Given the description of an element on the screen output the (x, y) to click on. 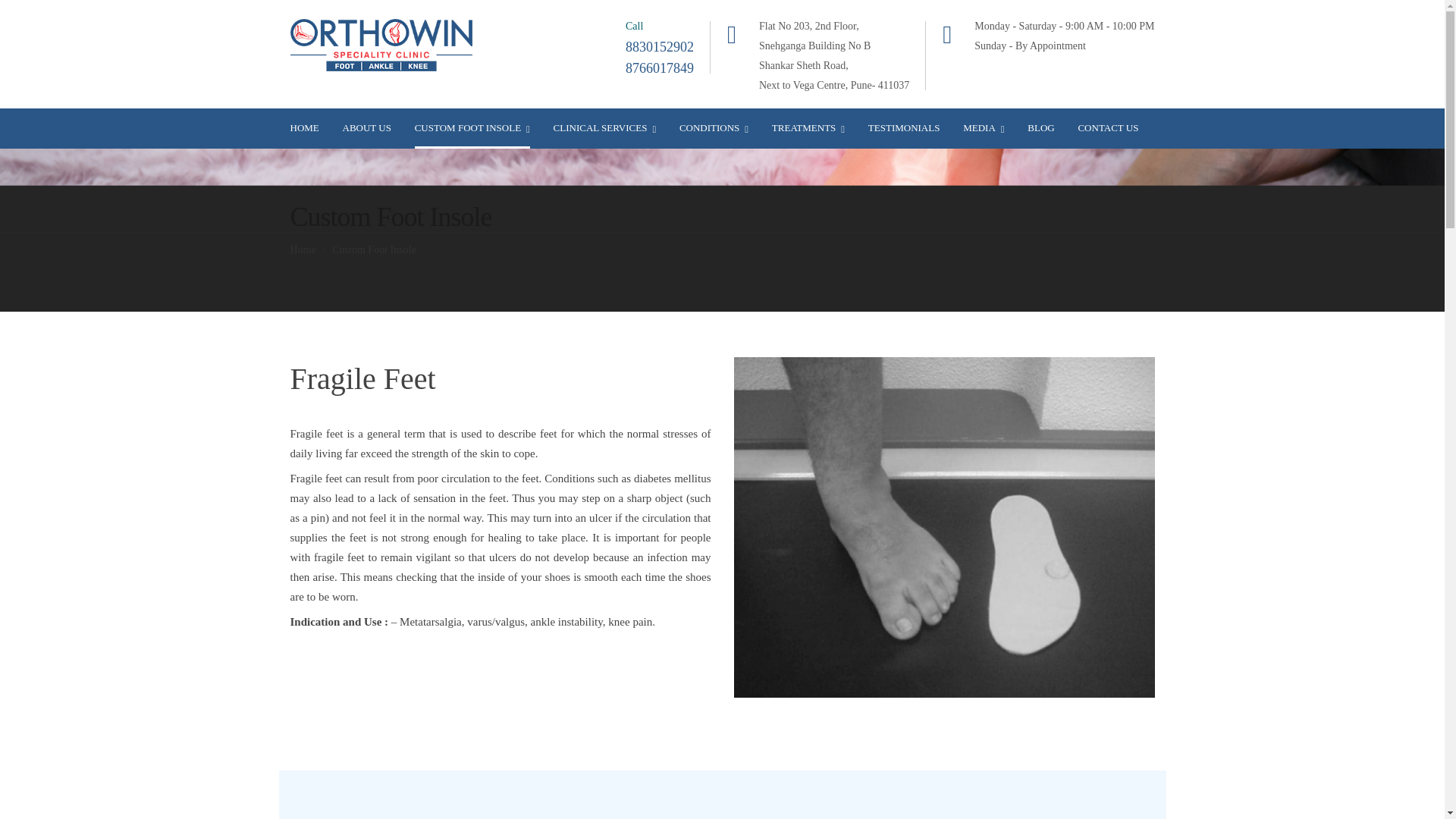
ABOUT US (366, 128)
CUSTOM FOOT INSOLE (471, 128)
CONDITIONS (713, 128)
CLINICAL SERVICES (604, 128)
